Given the description of an element on the screen output the (x, y) to click on. 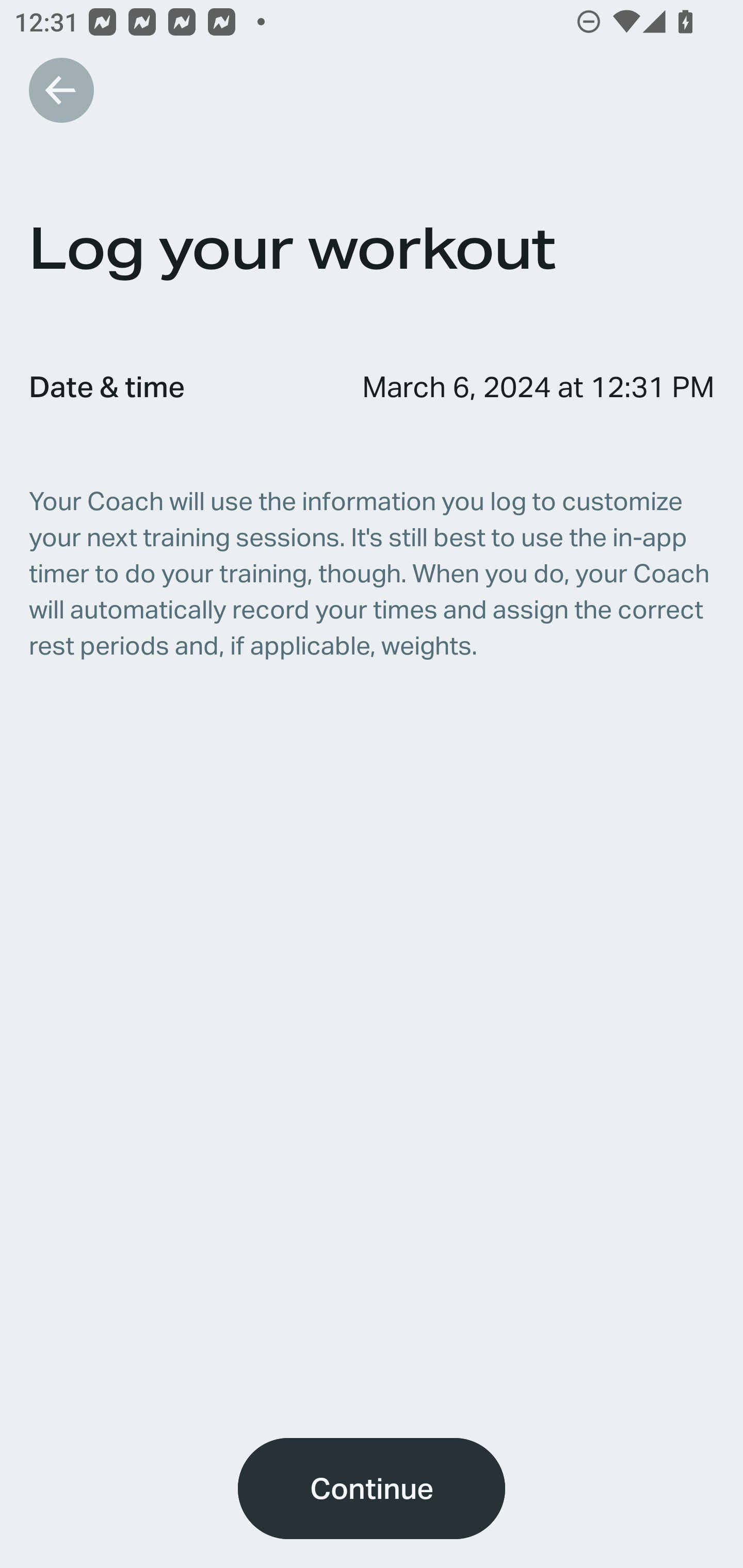
Go back (60, 90)
Date & time March 6, 2024 at 12:31 PM (371, 385)
Continue (371, 1488)
